Given the description of an element on the screen output the (x, y) to click on. 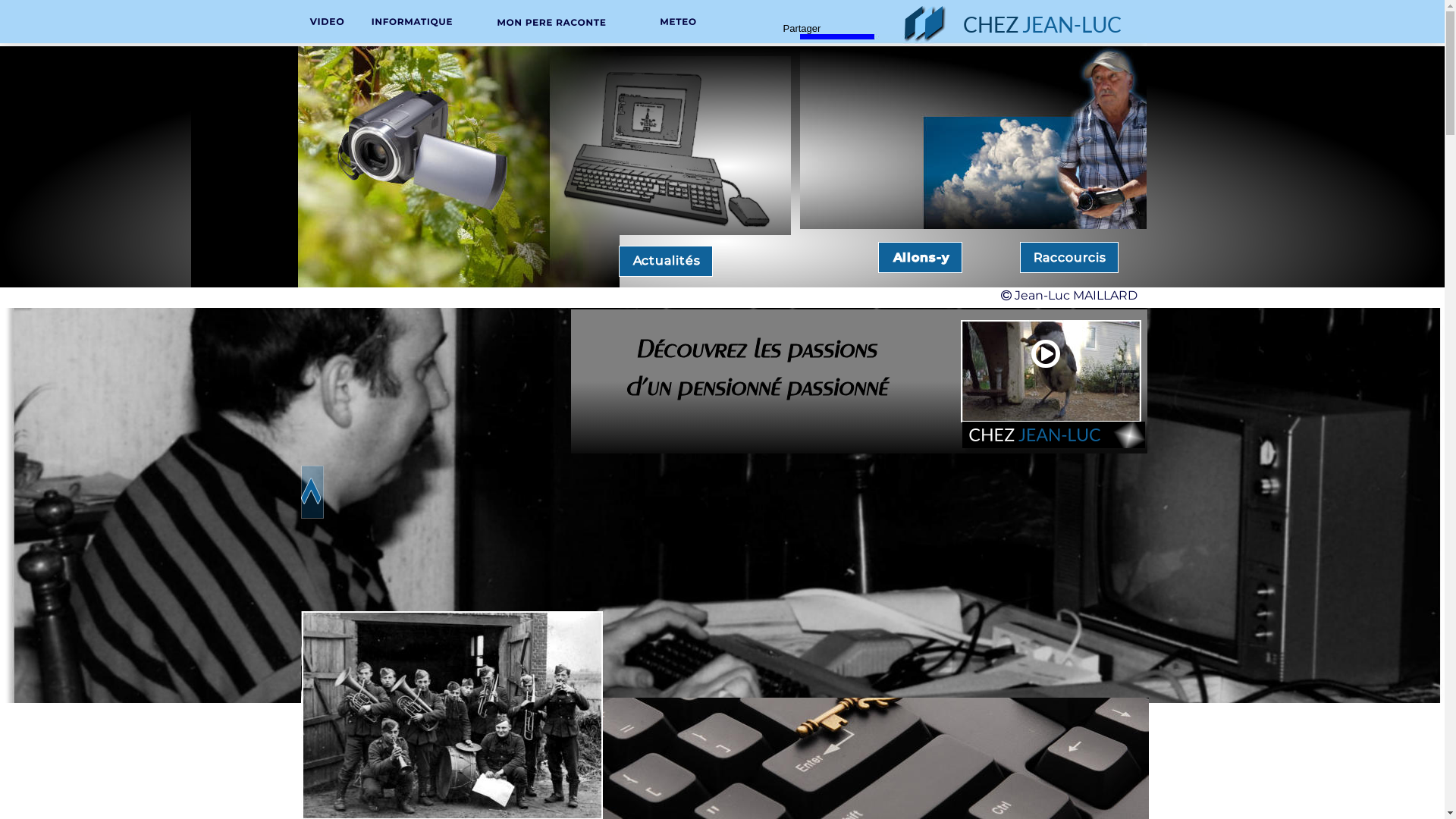
Partager Element type: text (801, 28)
Allons-y Element type: text (921, 257)
Raccourcis Element type: text (1068, 257)
